Given the description of an element on the screen output the (x, y) to click on. 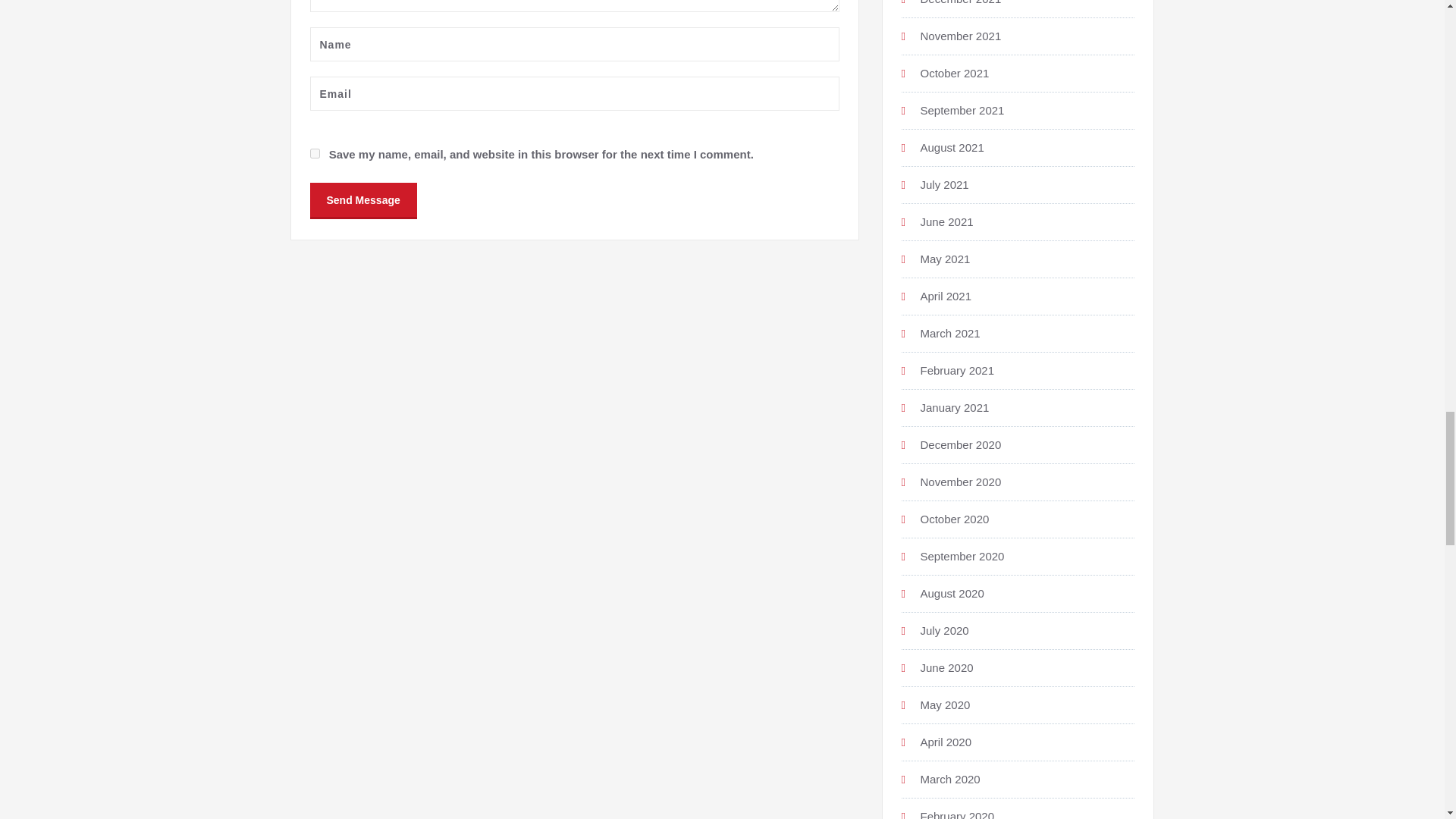
Send Message (362, 199)
yes (313, 153)
Send Message (362, 199)
